Given the description of an element on the screen output the (x, y) to click on. 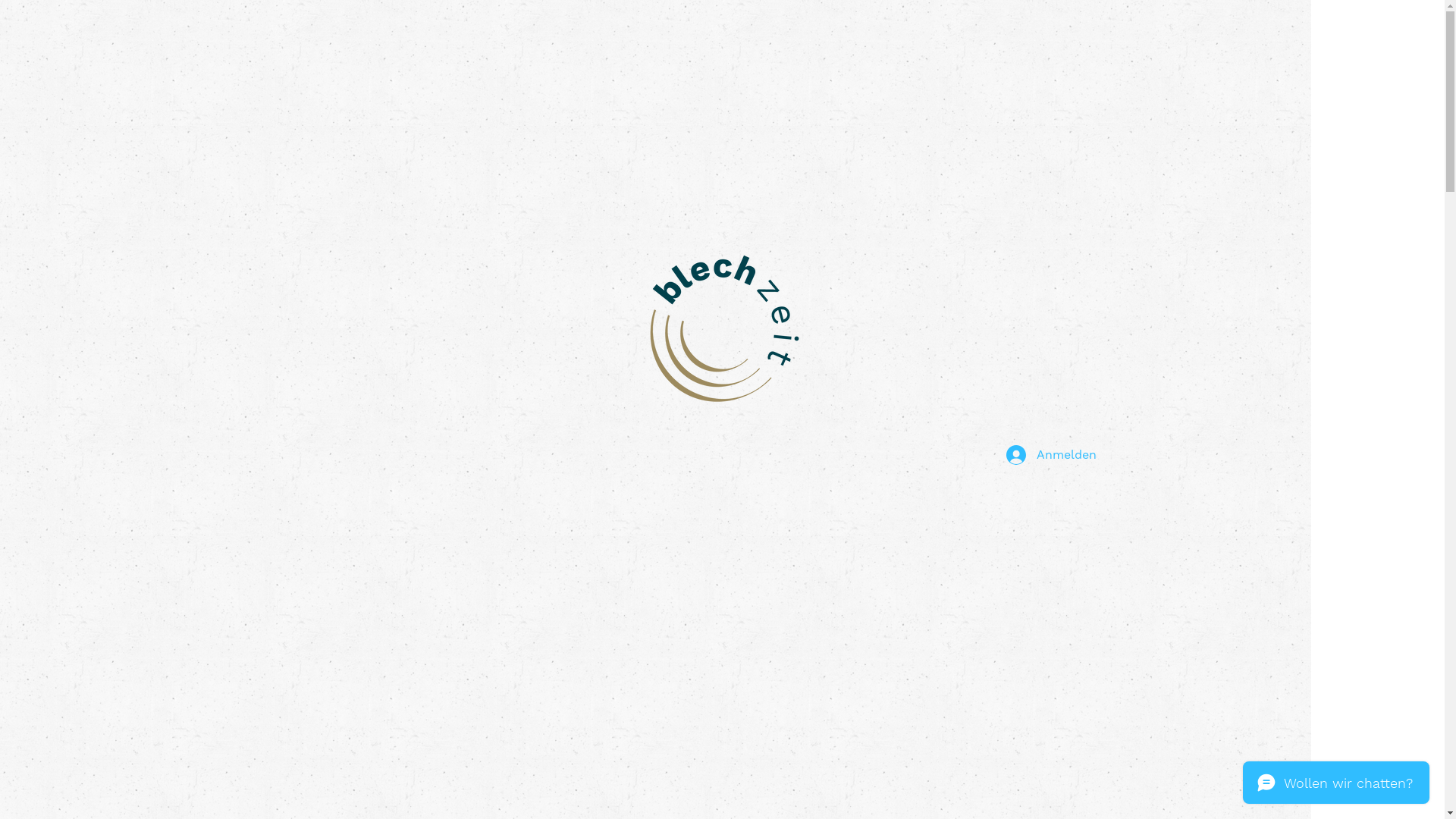
Anmelden Element type: text (1039, 454)
